Given the description of an element on the screen output the (x, y) to click on. 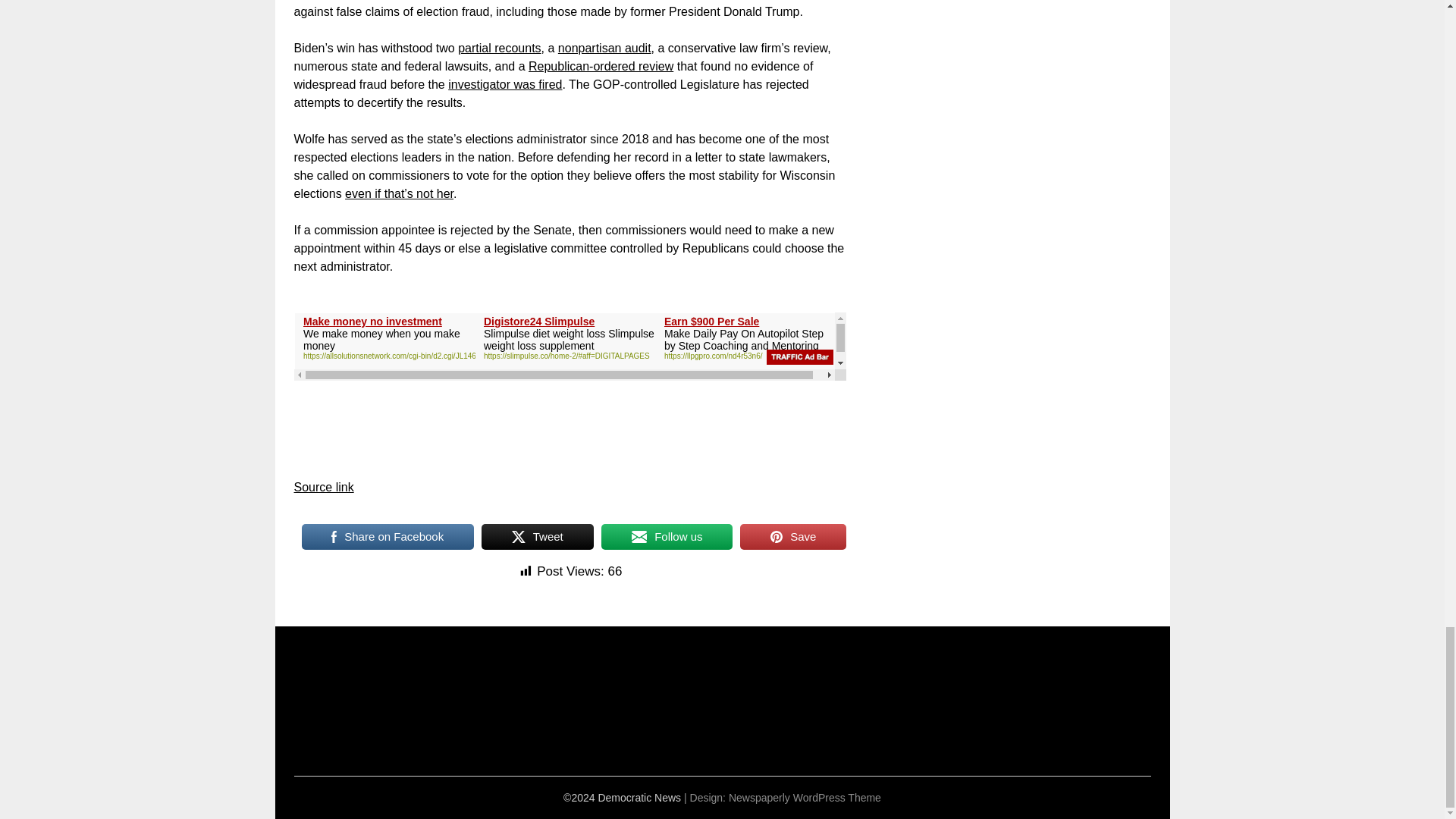
Tweet (537, 536)
Source link (323, 486)
Share on Facebook (387, 536)
nonpartisan audit (603, 47)
Save (792, 536)
Republican-ordered review (600, 65)
partial recounts (499, 47)
investigator was fired (505, 83)
Newspaperly WordPress Theme (804, 797)
Follow us (667, 536)
